Given the description of an element on the screen output the (x, y) to click on. 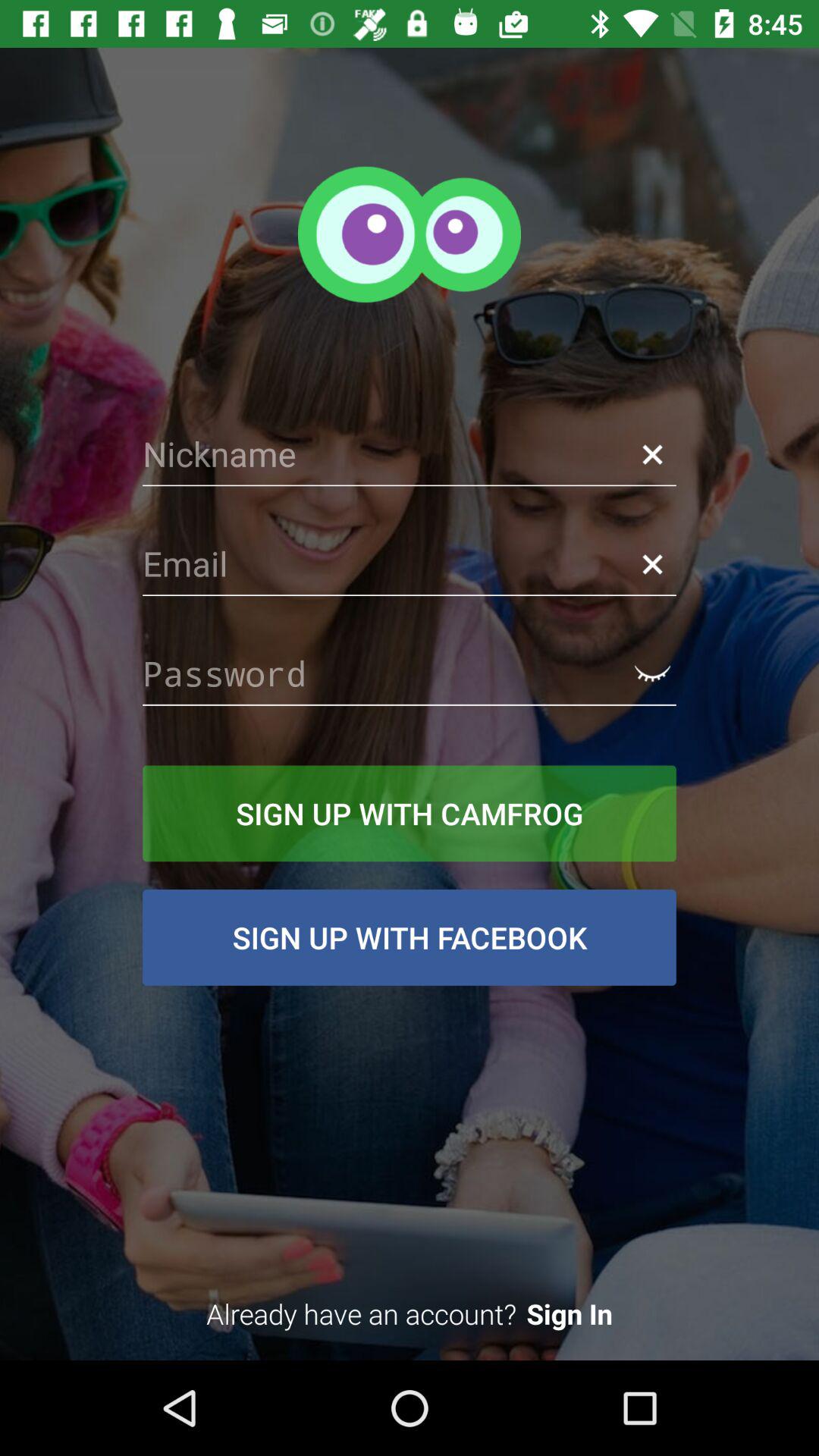
show password (652, 673)
